Given the description of an element on the screen output the (x, y) to click on. 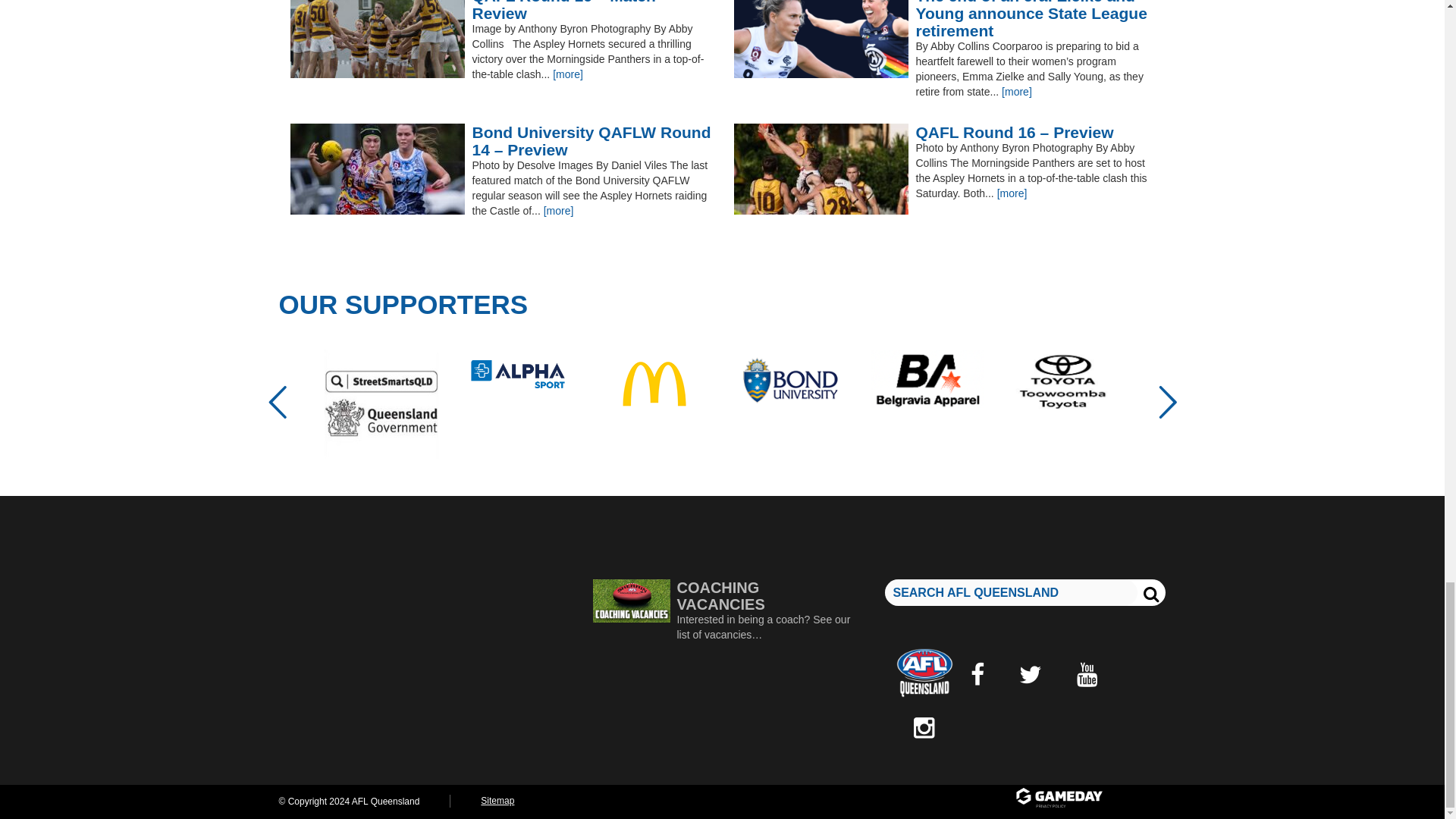
Powered by SportsTG (1089, 798)
